Given the description of an element on the screen output the (x, y) to click on. 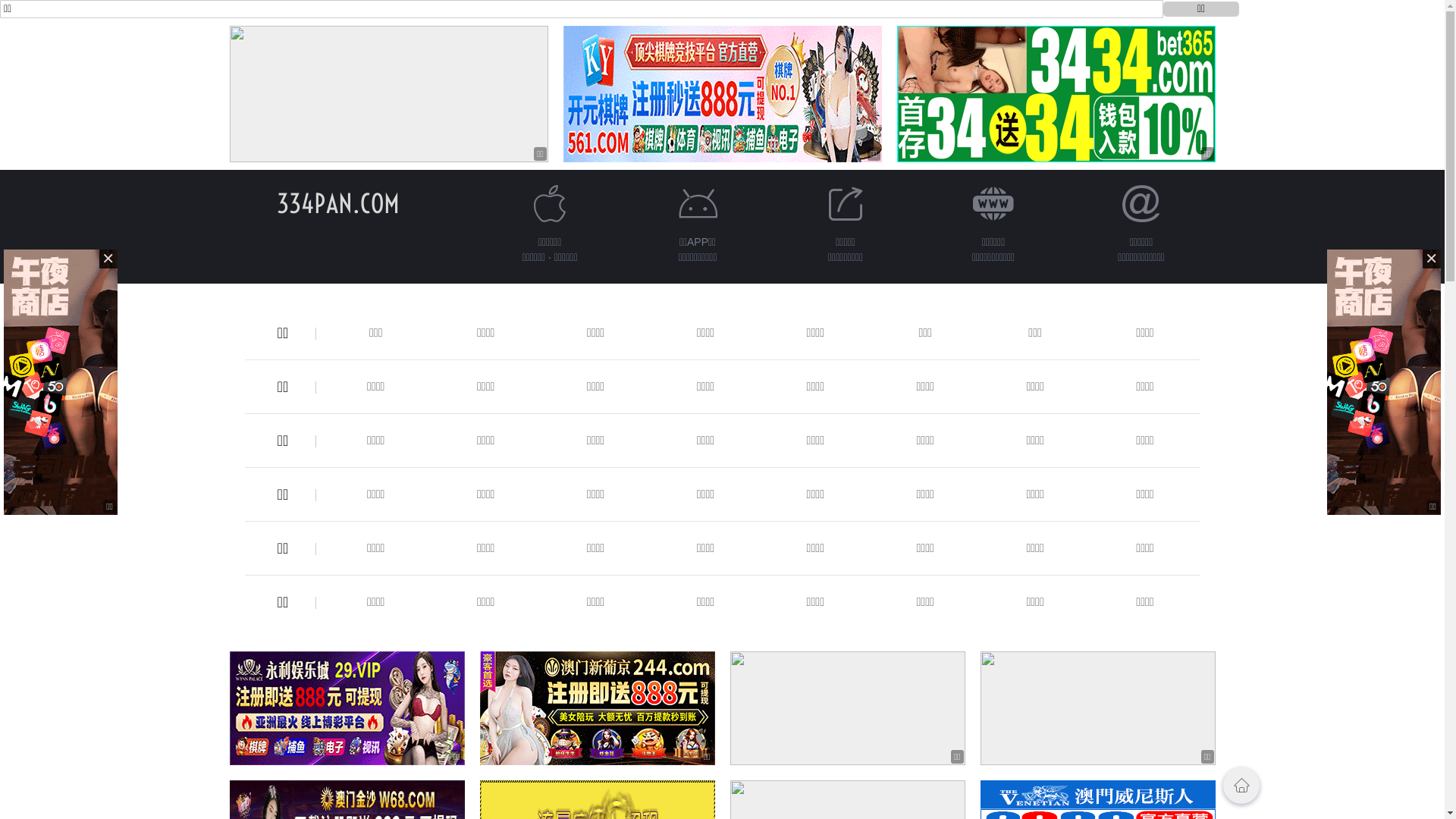
334PAN.COM Element type: text (337, 203)
